Given the description of an element on the screen output the (x, y) to click on. 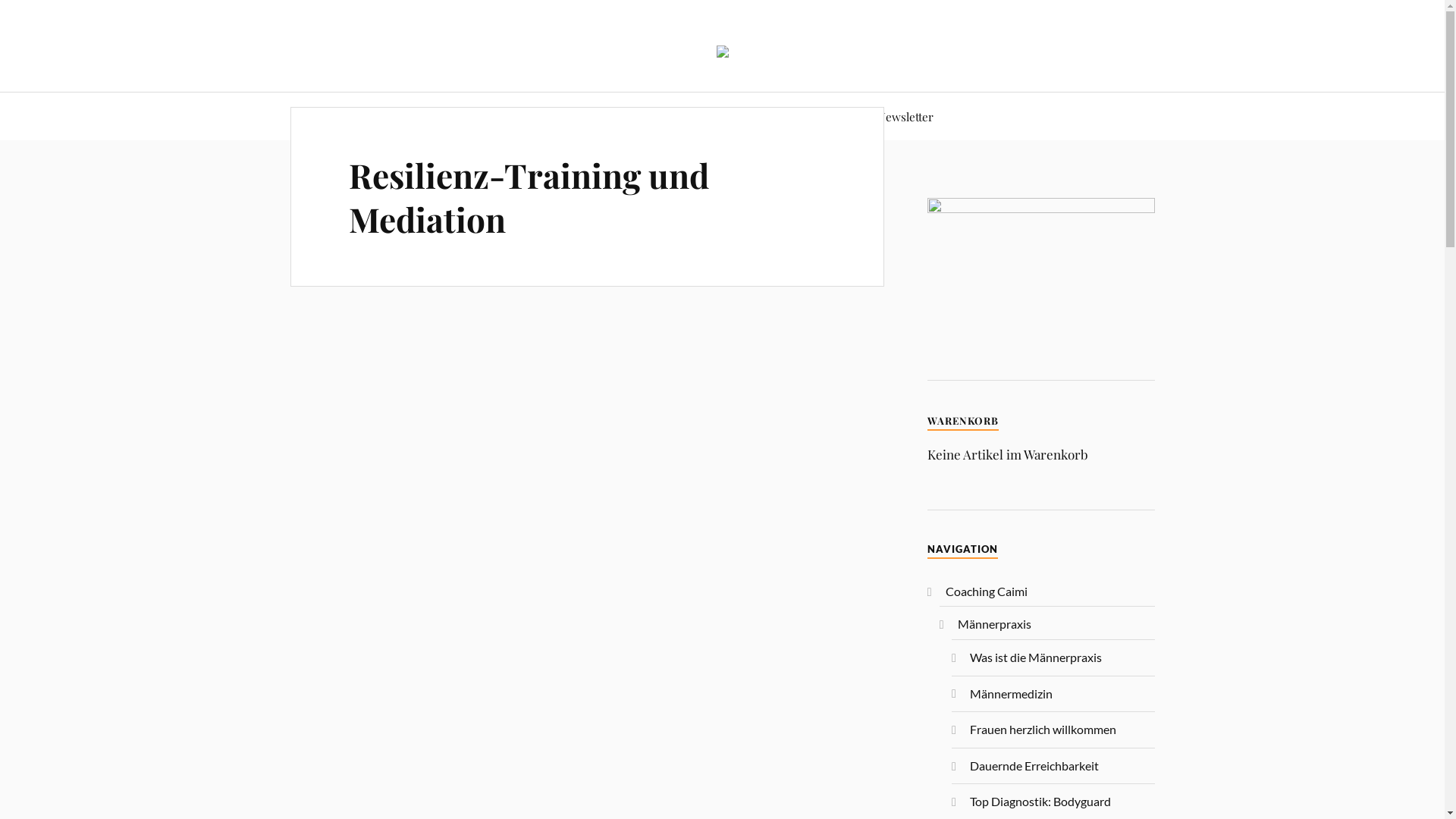
Coaching Caimi Element type: text (559, 116)
Coaching Caimi Element type: text (986, 590)
Dauernde Erreichbarkeit Element type: text (1033, 765)
Resilienz-Training und Mediation Element type: text (528, 196)
Top Diagnostik: Bodyguard Element type: text (1039, 800)
Newsletter Element type: text (905, 116)
Allgemein Element type: text (673, 116)
Frauen herzlich willkommen Element type: text (1042, 728)
